Given the description of an element on the screen output the (x, y) to click on. 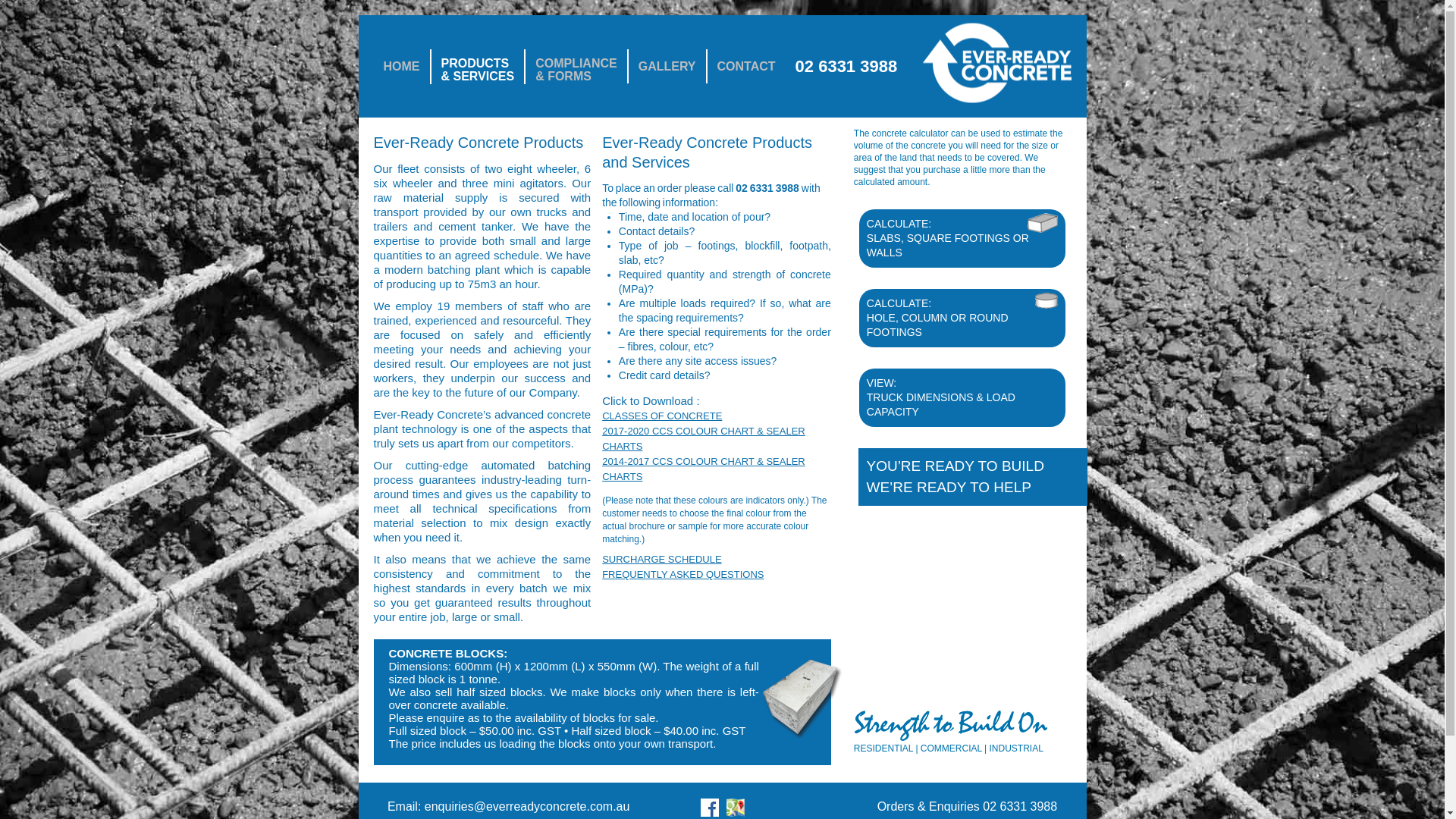
GALLERY Element type: text (667, 66)
CLASSES OF CONCRETE Element type: text (661, 415)
CONTACT Element type: text (746, 66)
HOME Element type: text (401, 66)
enquiries@everreadyconcrete.com.au Element type: text (527, 806)
02 6331 3988 Element type: text (767, 188)
02 6331 3988 Element type: text (1019, 806)
SURCHARGE SCHEDULE Element type: text (661, 558)
CALCULATE:
SLABS, SQUARE FOOTINGS OR WALLS Element type: text (962, 238)
CALCULATE:
HOLE, COLUMN OR ROUND FOOTINGS Element type: text (962, 317)
COMPLIANCE
& FORMS Element type: text (576, 66)
2017-2020 CCS COLOUR CHART & SEALER CHARTS Element type: text (703, 438)
FREQUENTLY ASKED QUESTIONS Element type: text (682, 574)
HOME Element type: text (935, 86)
02 6331 3988 Element type: text (846, 66)
PRODUCTS
& SERVICES Element type: text (477, 66)
2014-2017 CCS COLOUR CHART & SEALER CHARTS Element type: text (703, 468)
VIEW:
TRUCK DIMENSIONS & LOAD CAPACITY Element type: text (962, 397)
